Given the description of an element on the screen output the (x, y) to click on. 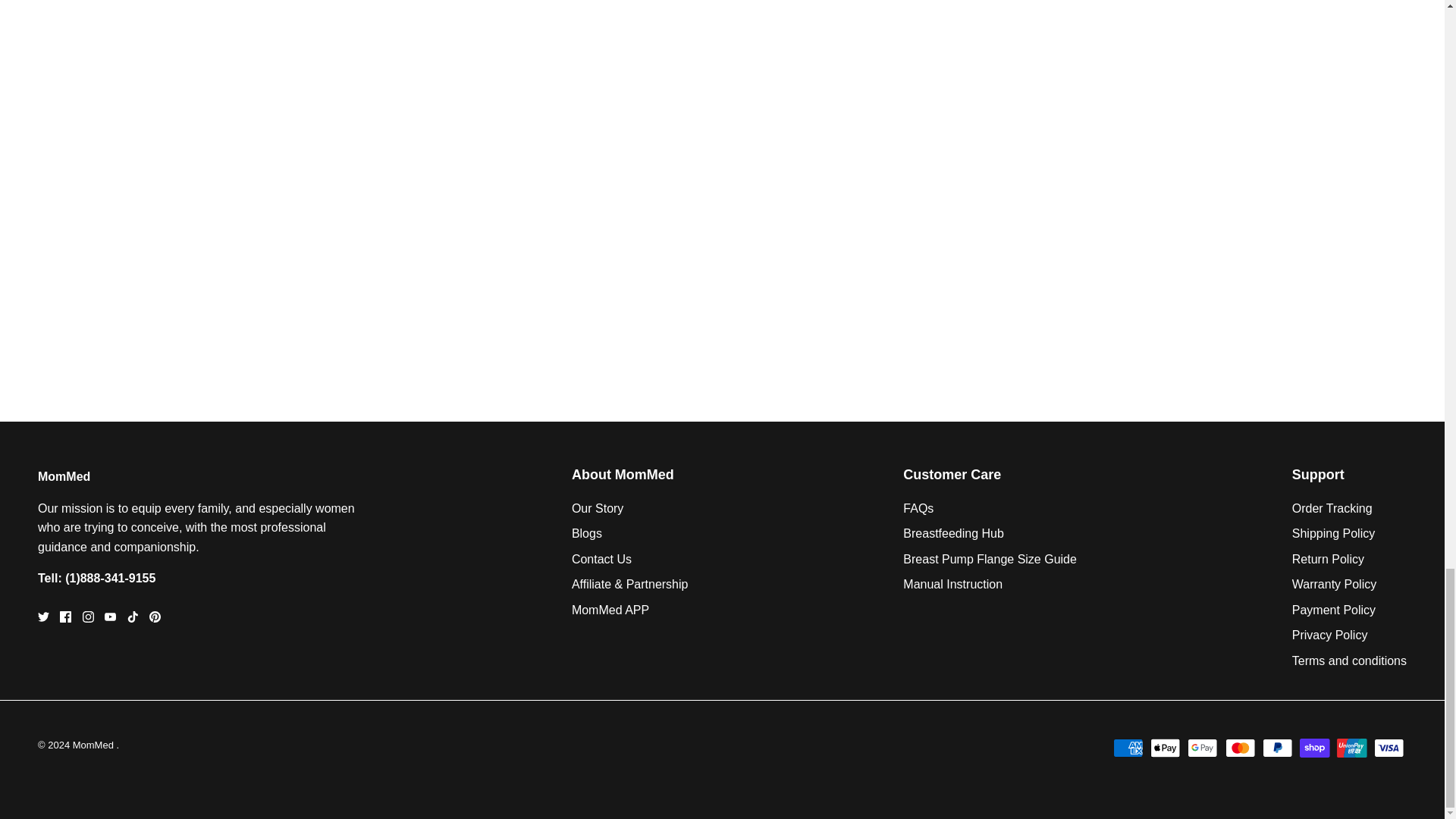
Instagram (88, 616)
American Express (1127, 747)
Apple Pay (1165, 747)
Mastercard (1240, 747)
Pinterest (154, 616)
Twitter (43, 616)
Union Pay (1351, 747)
PayPal (1277, 747)
Visa (1388, 747)
Shop Pay (1314, 747)
